Given the description of an element on the screen output the (x, y) to click on. 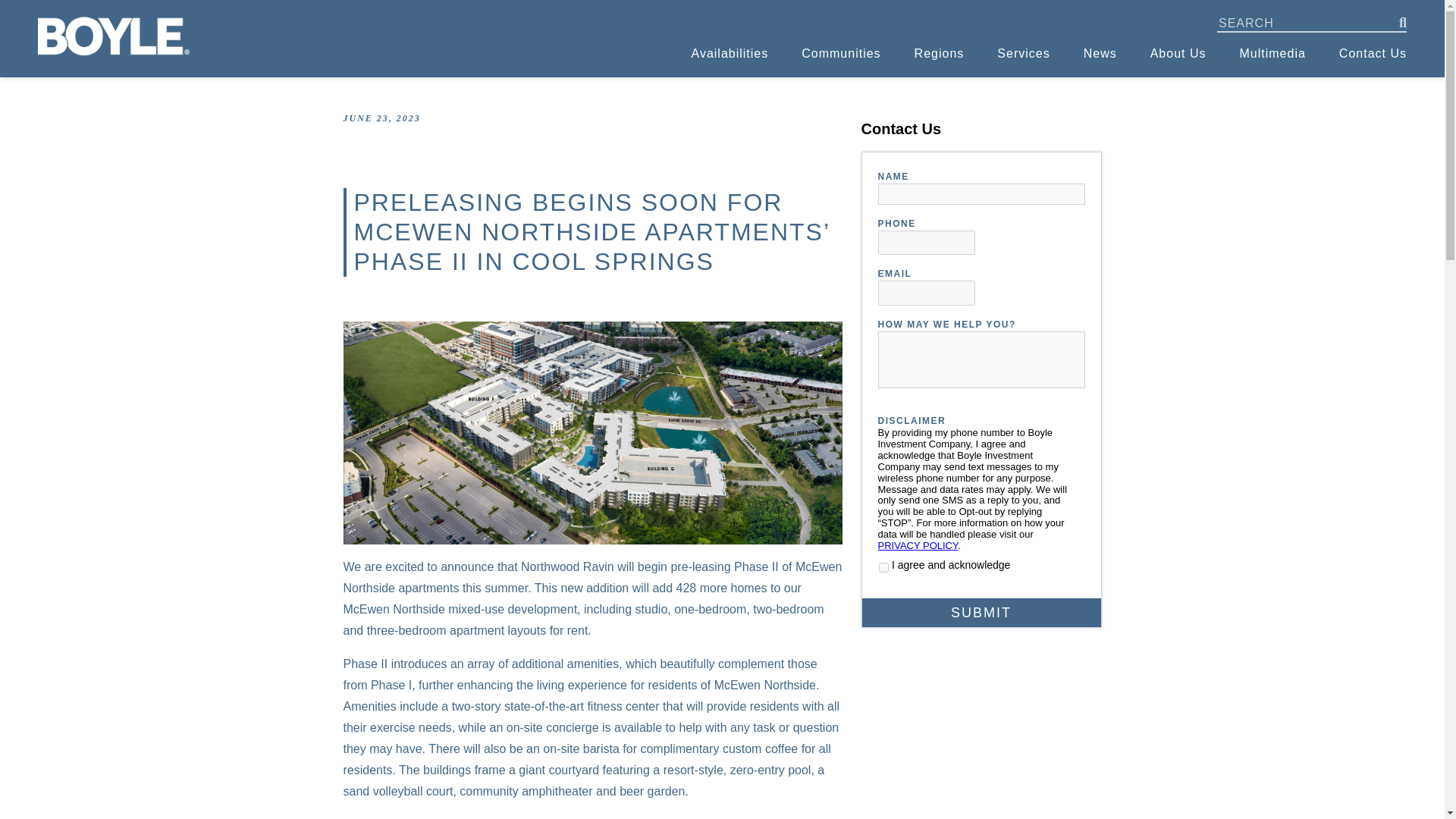
Search (25, 9)
Availabilities (729, 53)
I agree and acknowledge (882, 567)
Regions (938, 53)
Communities (841, 53)
SUBMIT (980, 612)
Services (1023, 53)
